Given the description of an element on the screen output the (x, y) to click on. 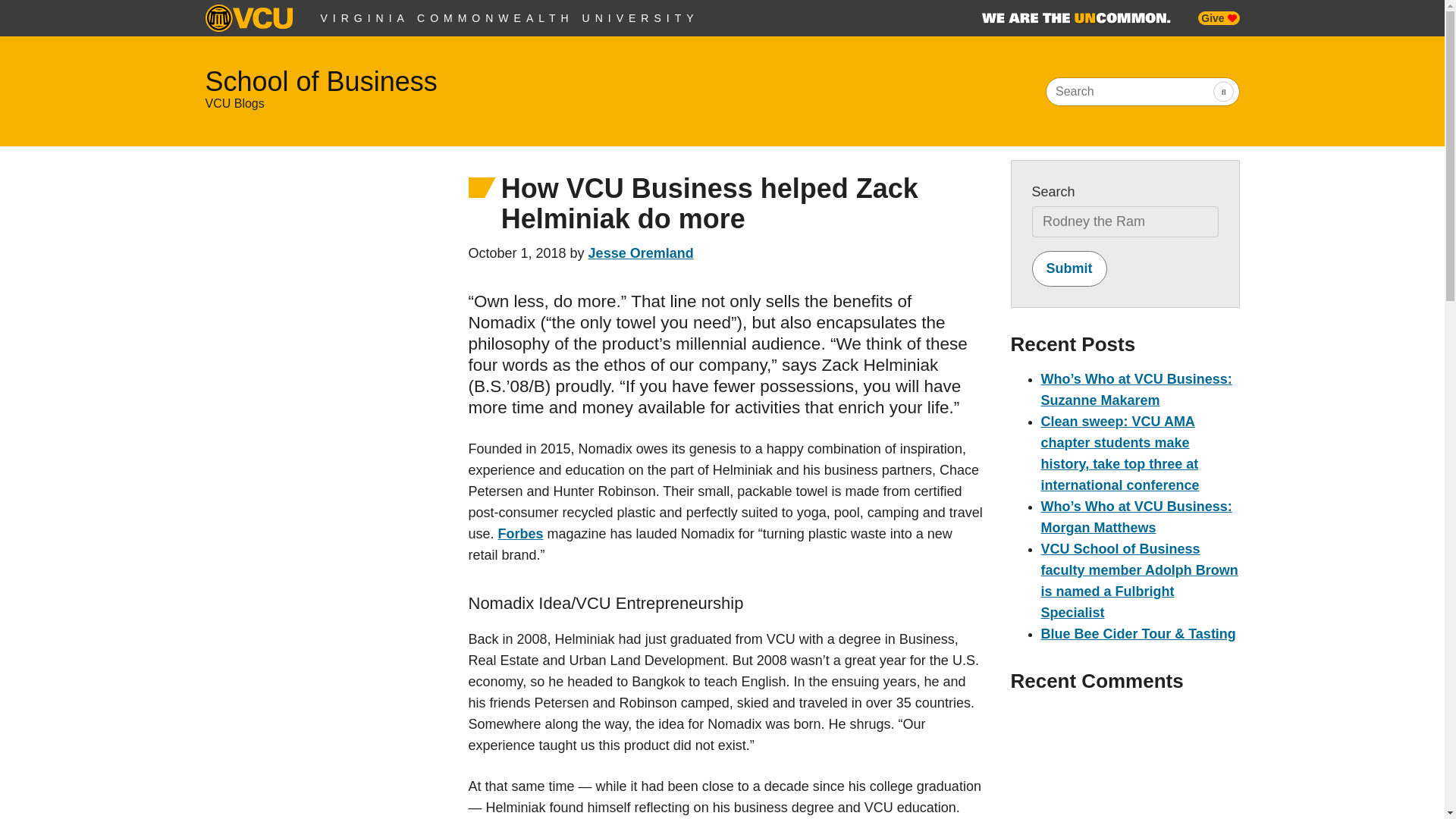
School of Business (320, 81)
Give  (1218, 18)
We are the UNCOMMON. (1075, 17)
Jesse Oremland (641, 253)
VIRGINIA COMMONWEALTH UNIVERSITY (509, 18)
Forbes (520, 533)
